Given the description of an element on the screen output the (x, y) to click on. 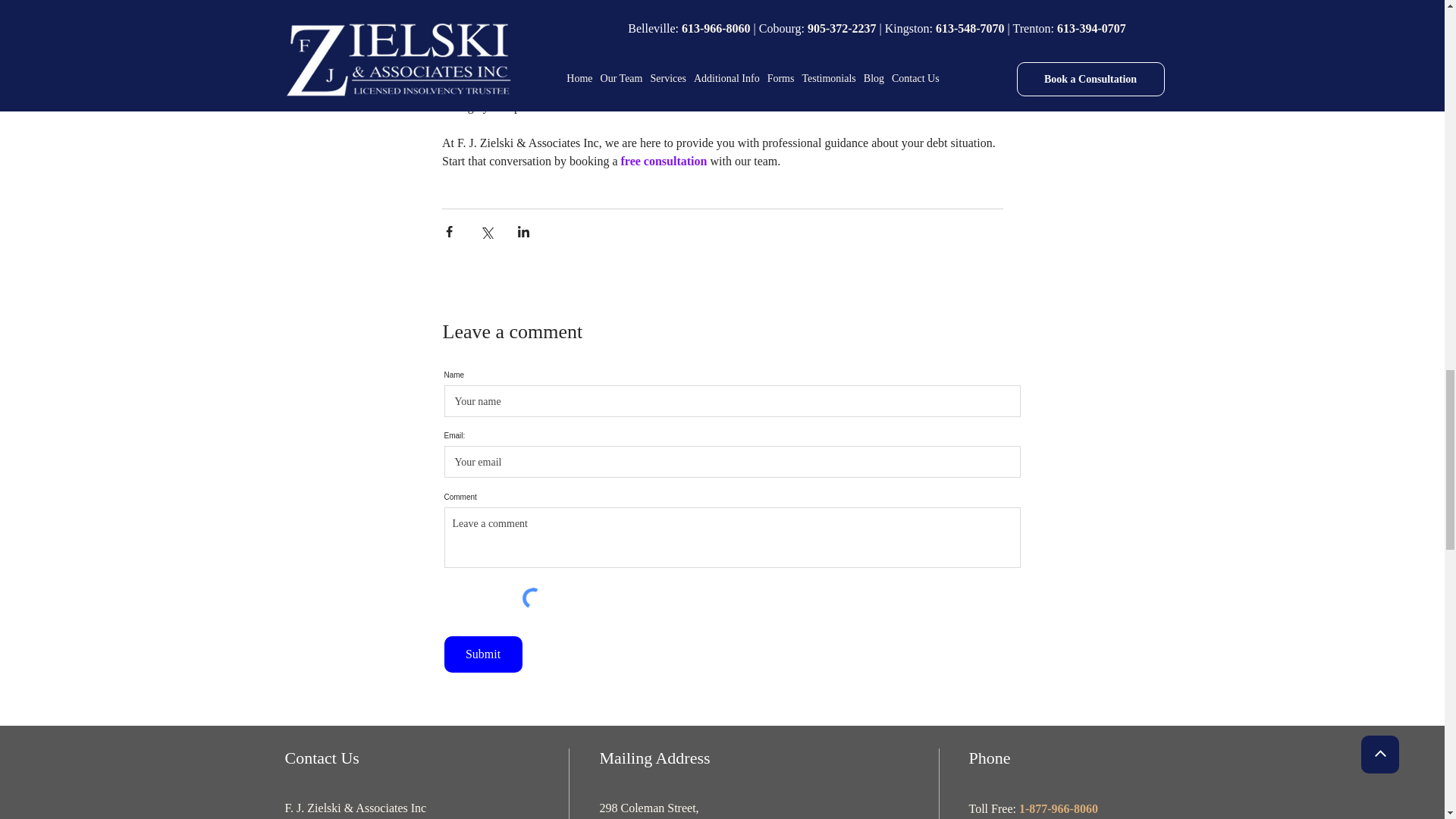
Submit (483, 654)
free consultation (663, 160)
1-877-966-8060 (1058, 809)
